Given the description of an element on the screen output the (x, y) to click on. 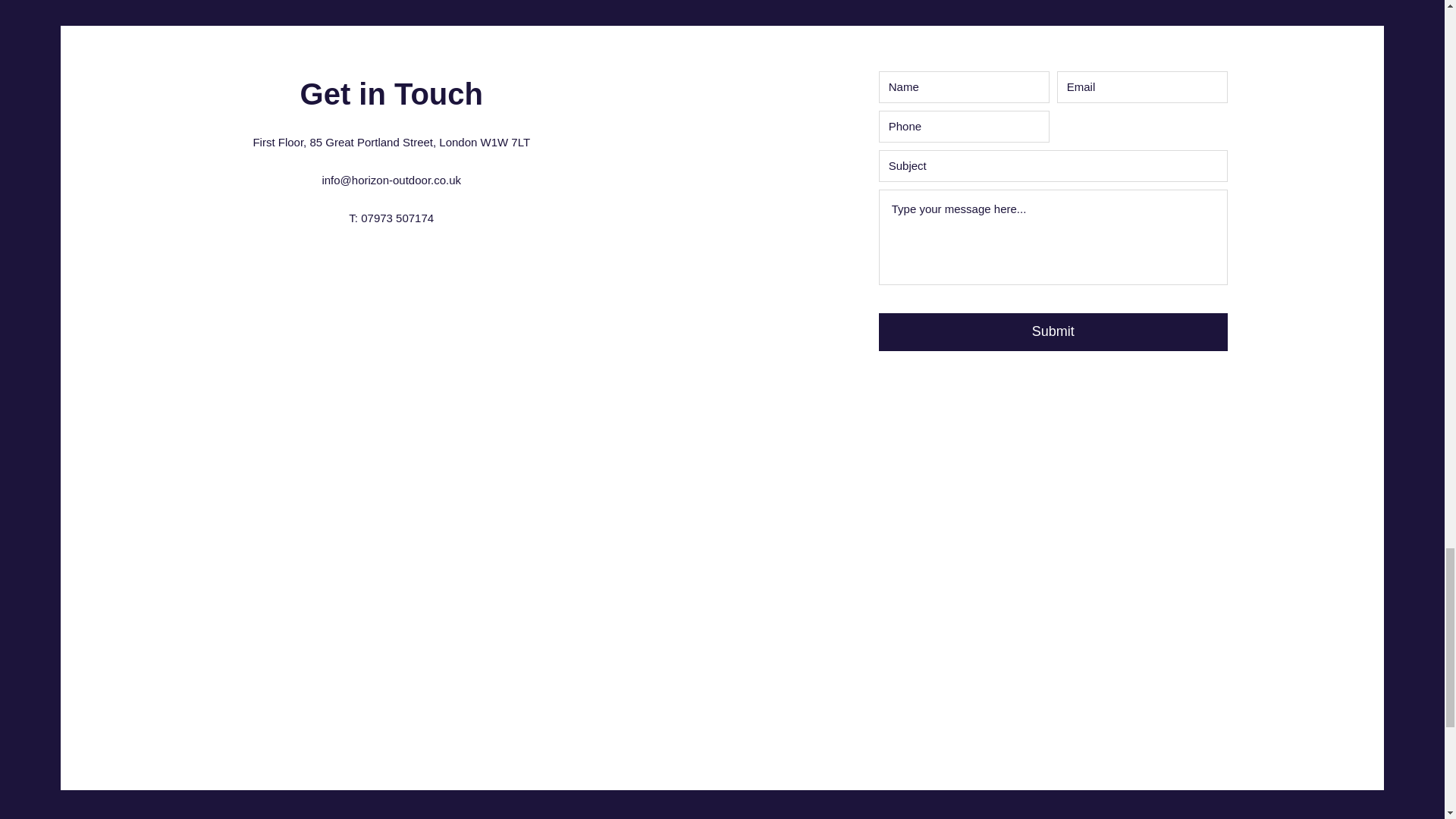
Submit (1053, 331)
